Given the description of an element on the screen output the (x, y) to click on. 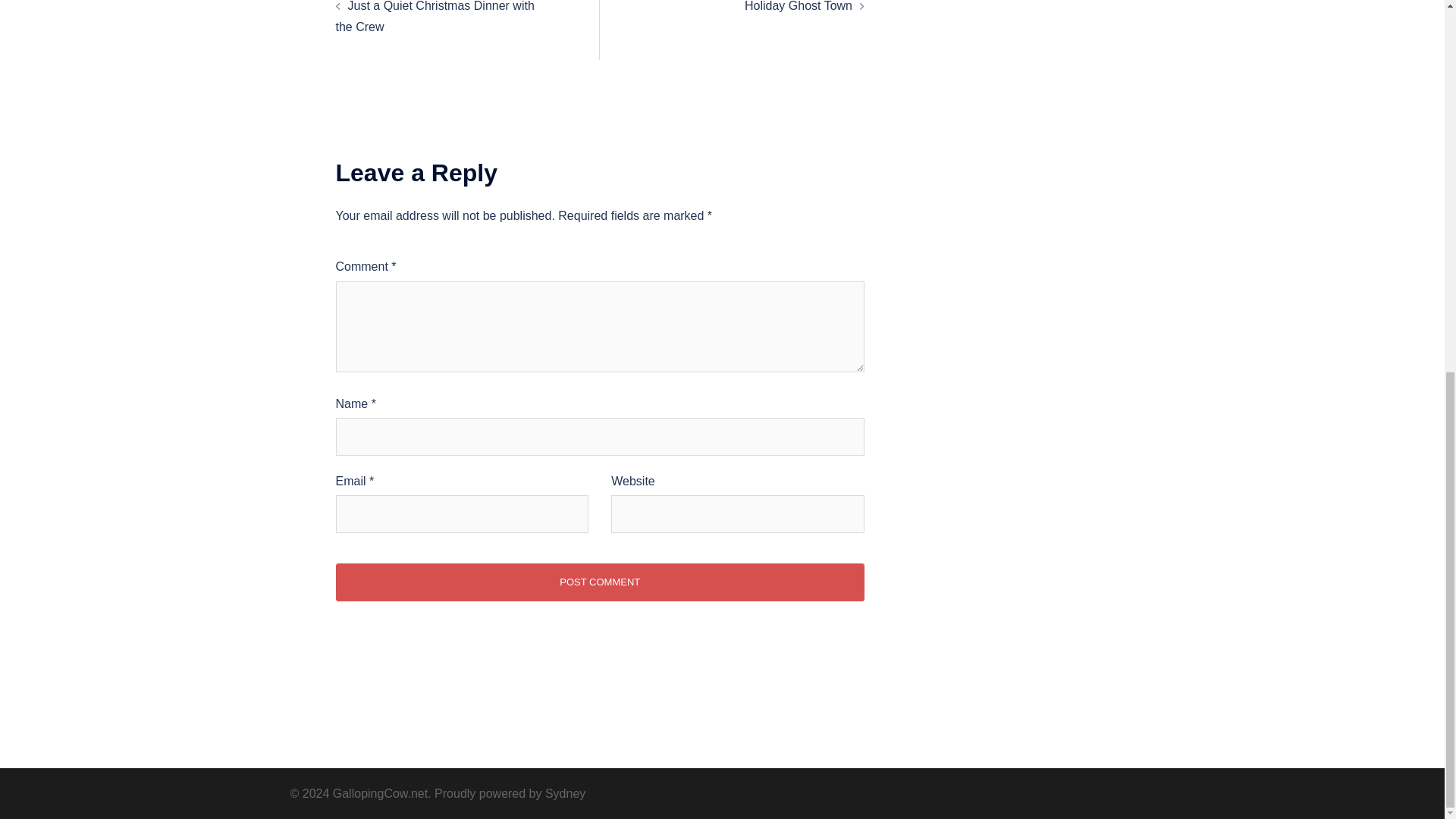
Post Comment (599, 582)
Sydney (564, 793)
Just a Quiet Christmas Dinner with the Crew (434, 16)
Post Comment (599, 582)
Holiday Ghost Town (797, 6)
